Given the description of an element on the screen output the (x, y) to click on. 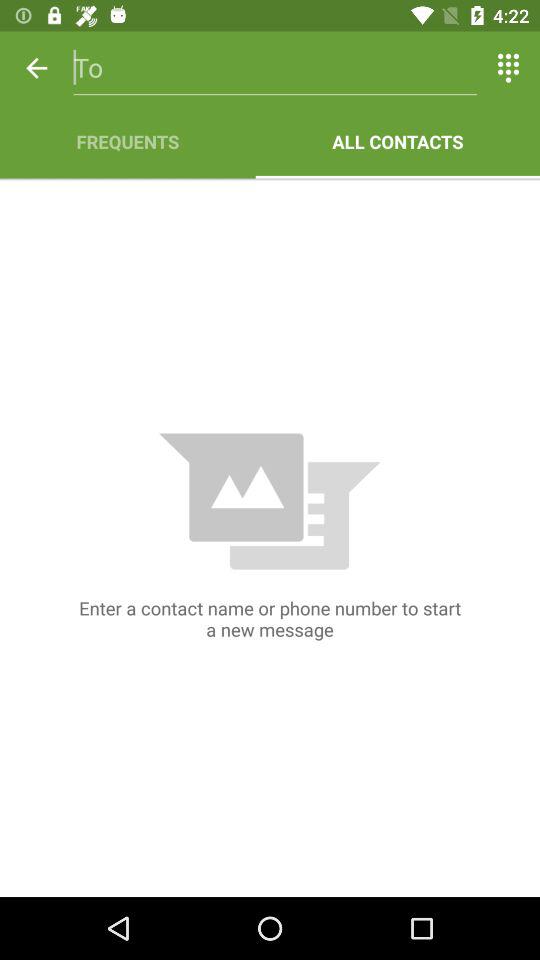
tap frequents (127, 141)
